Given the description of an element on the screen output the (x, y) to click on. 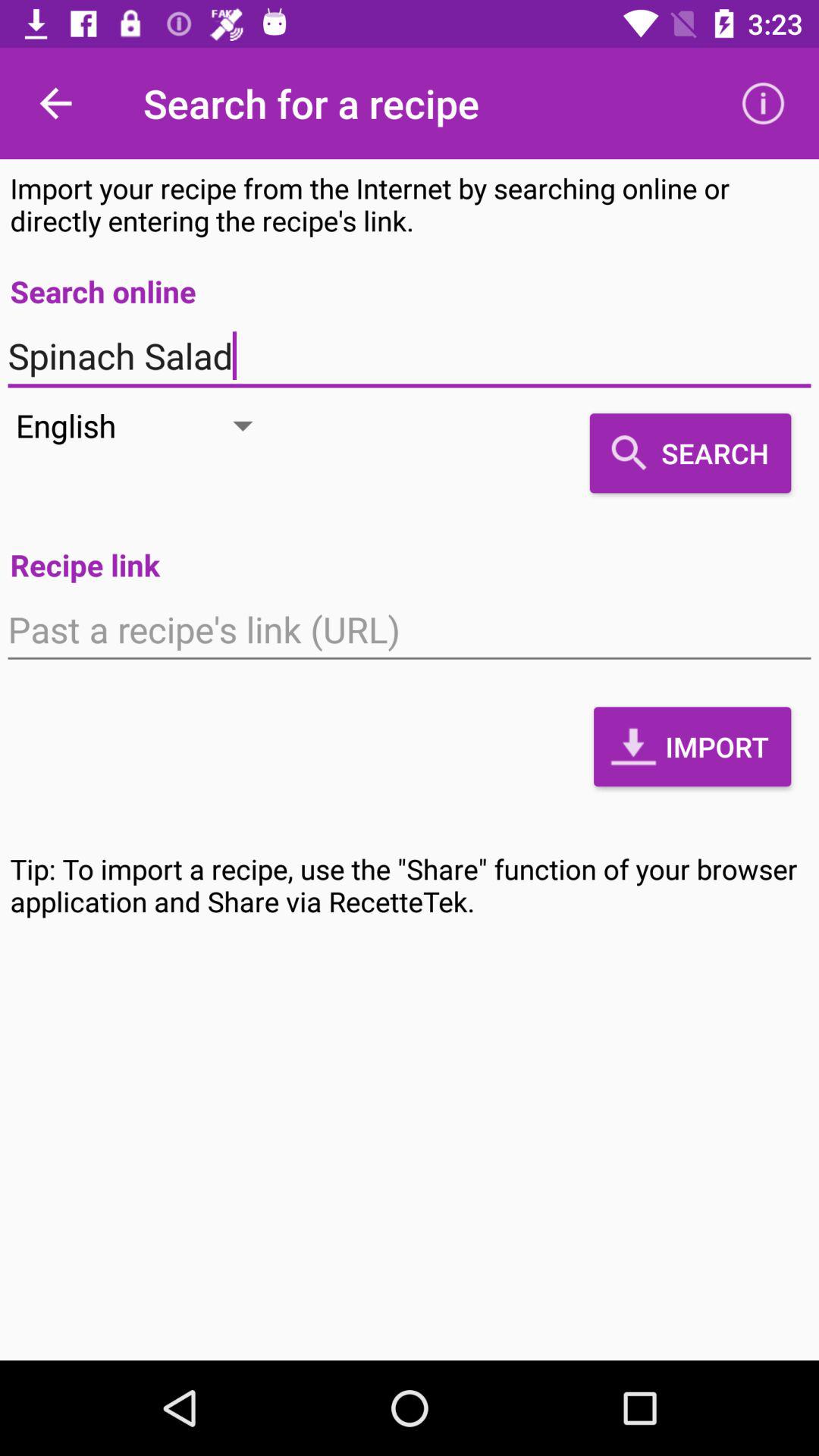
open item next to search for a item (763, 103)
